Given the description of an element on the screen output the (x, y) to click on. 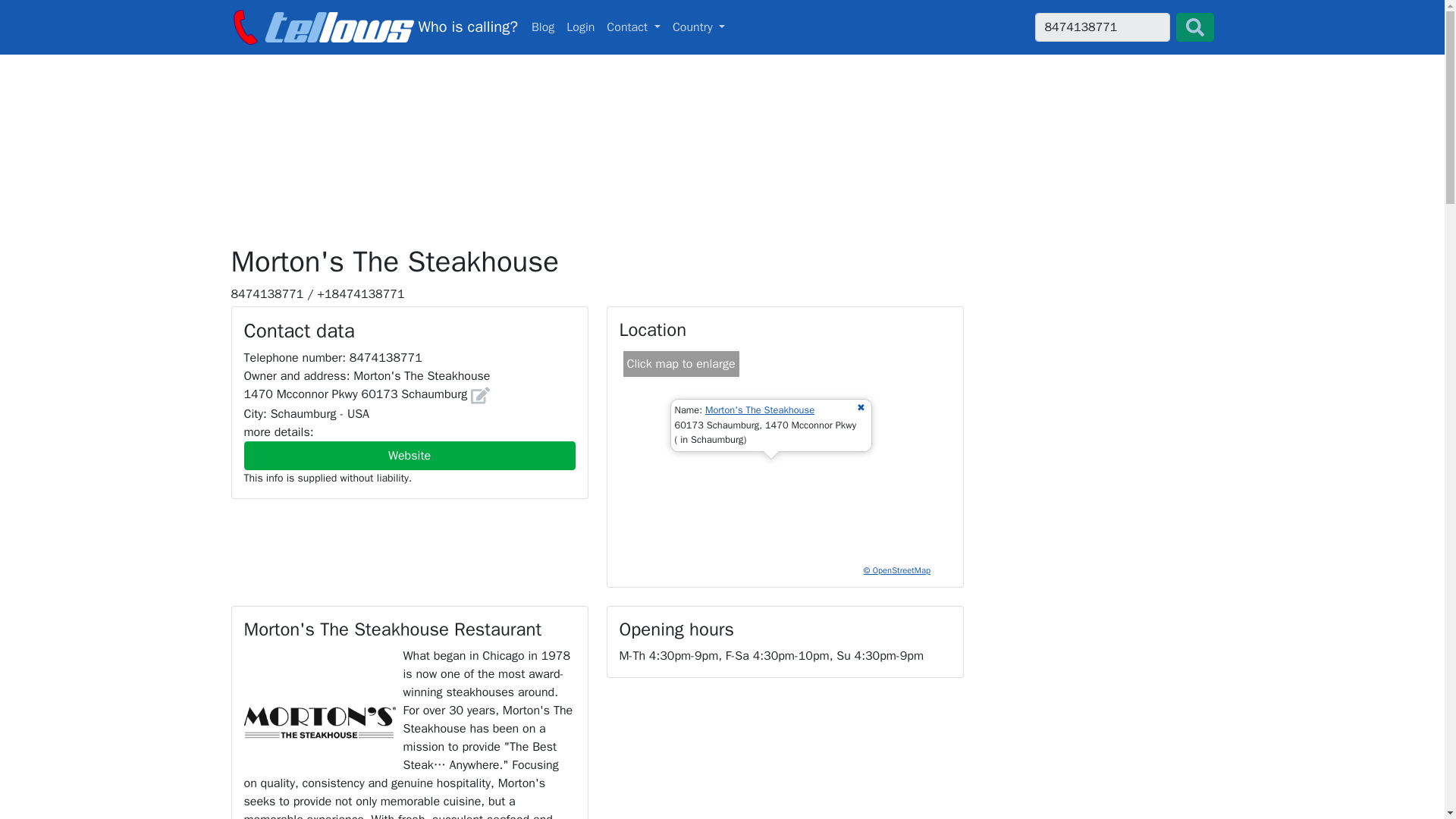
Country (699, 27)
Morton's The Steakhouse (758, 410)
Blog (542, 27)
8474138771 (1101, 27)
tellows - the community for calls, phone spam and complaints (373, 26)
Website (409, 455)
Contact (632, 27)
Who is calling? (373, 26)
Blog (542, 27)
Login (579, 27)
